Given the description of an element on the screen output the (x, y) to click on. 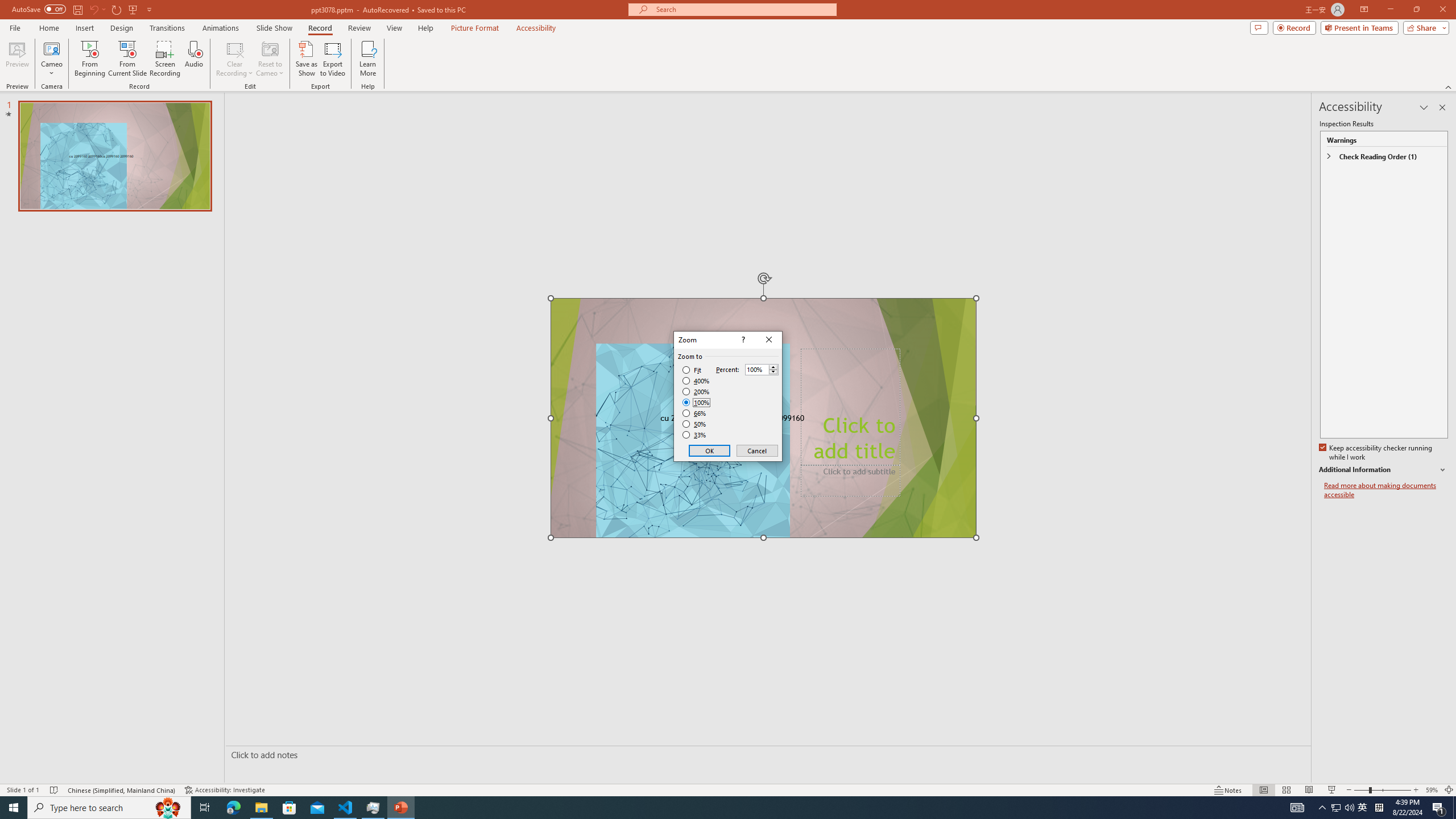
100% (696, 402)
Zoom 59% (1431, 790)
